Given the description of an element on the screen output the (x, y) to click on. 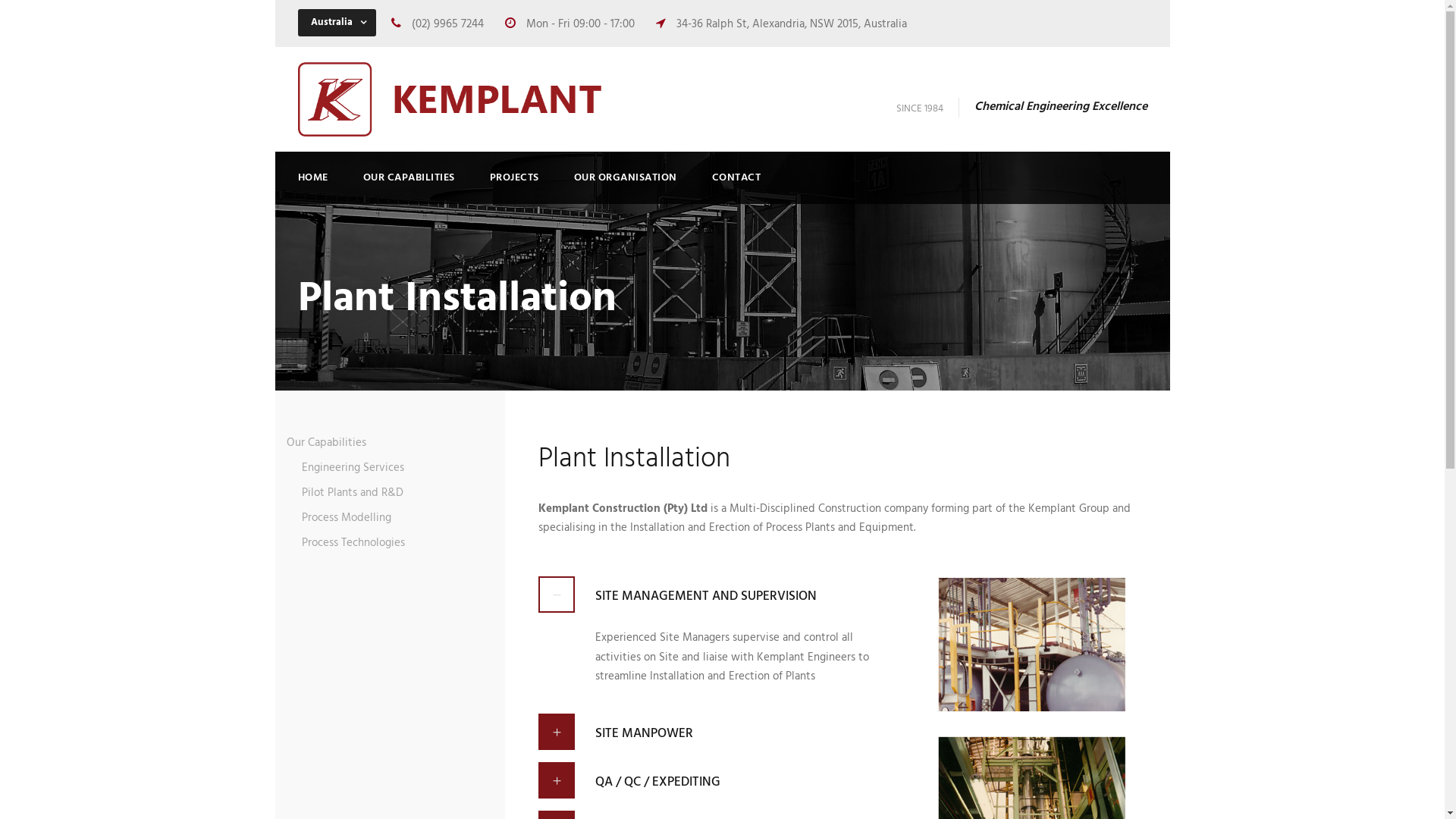
Engineering Services Element type: text (352, 467)
OUR CAPABILITIES Element type: text (408, 186)
34-36 Ralph St, Alexandria, NSW 2015, Australia Element type: text (789, 24)
Pilot Plants and R&D Element type: text (352, 492)
PROJECTS Element type: text (514, 186)
(02) 9965 7244 Element type: text (445, 24)
Our Capabilities Element type: text (326, 442)
OUR ORGANISATION Element type: text (624, 186)
HOME Element type: text (312, 186)
CONTACT Element type: text (735, 186)
Process Modelling Element type: text (346, 517)
Process Technologies Element type: text (352, 542)
